Given the description of an element on the screen output the (x, y) to click on. 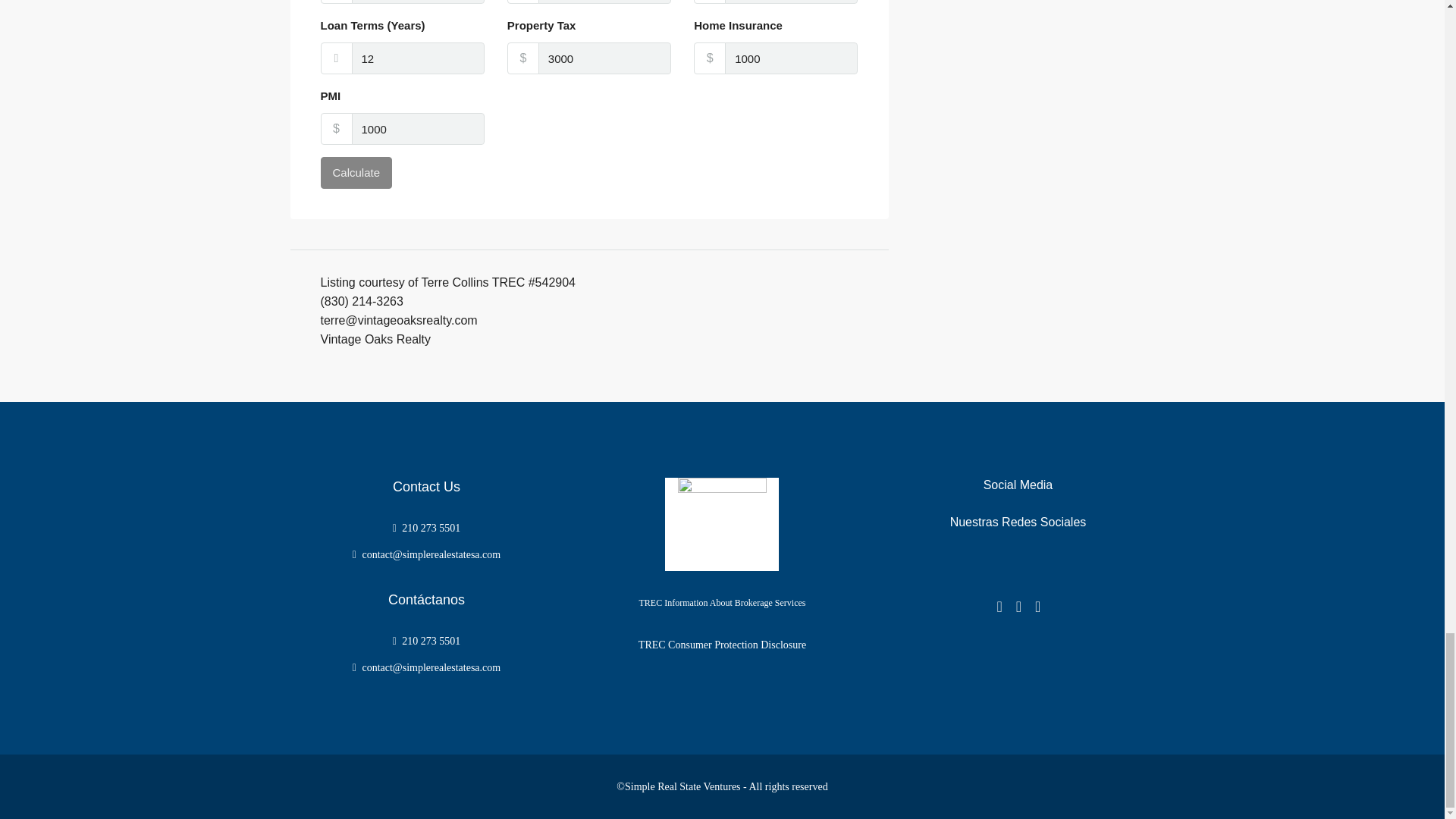
12 (418, 58)
1000 (418, 128)
3000 (604, 58)
134850 (604, 2)
3.5 (791, 2)
1000 (791, 58)
899000 (418, 2)
